Given the description of an element on the screen output the (x, y) to click on. 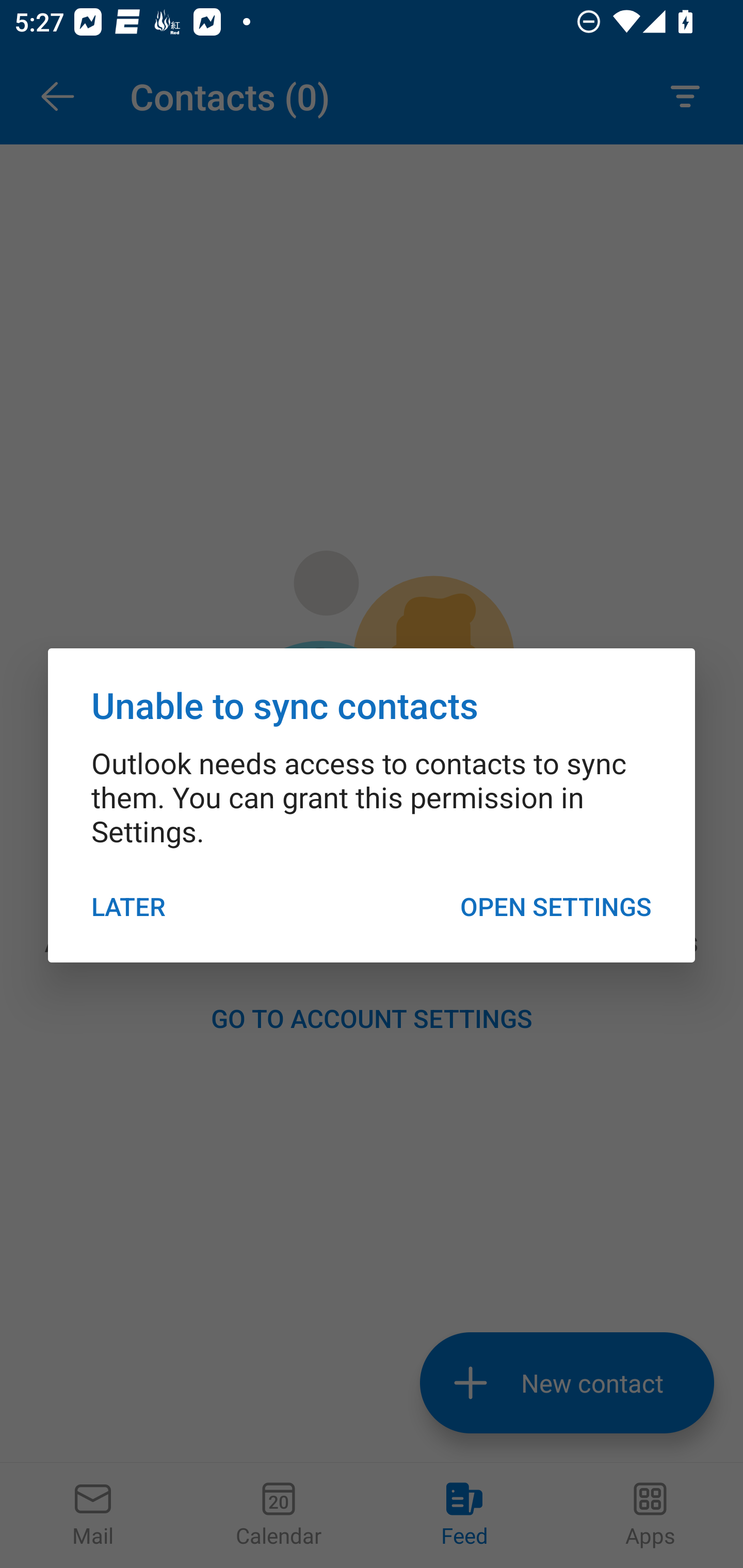
LATER (128, 905)
OPEN SETTINGS (555, 905)
